Given the description of an element on the screen output the (x, y) to click on. 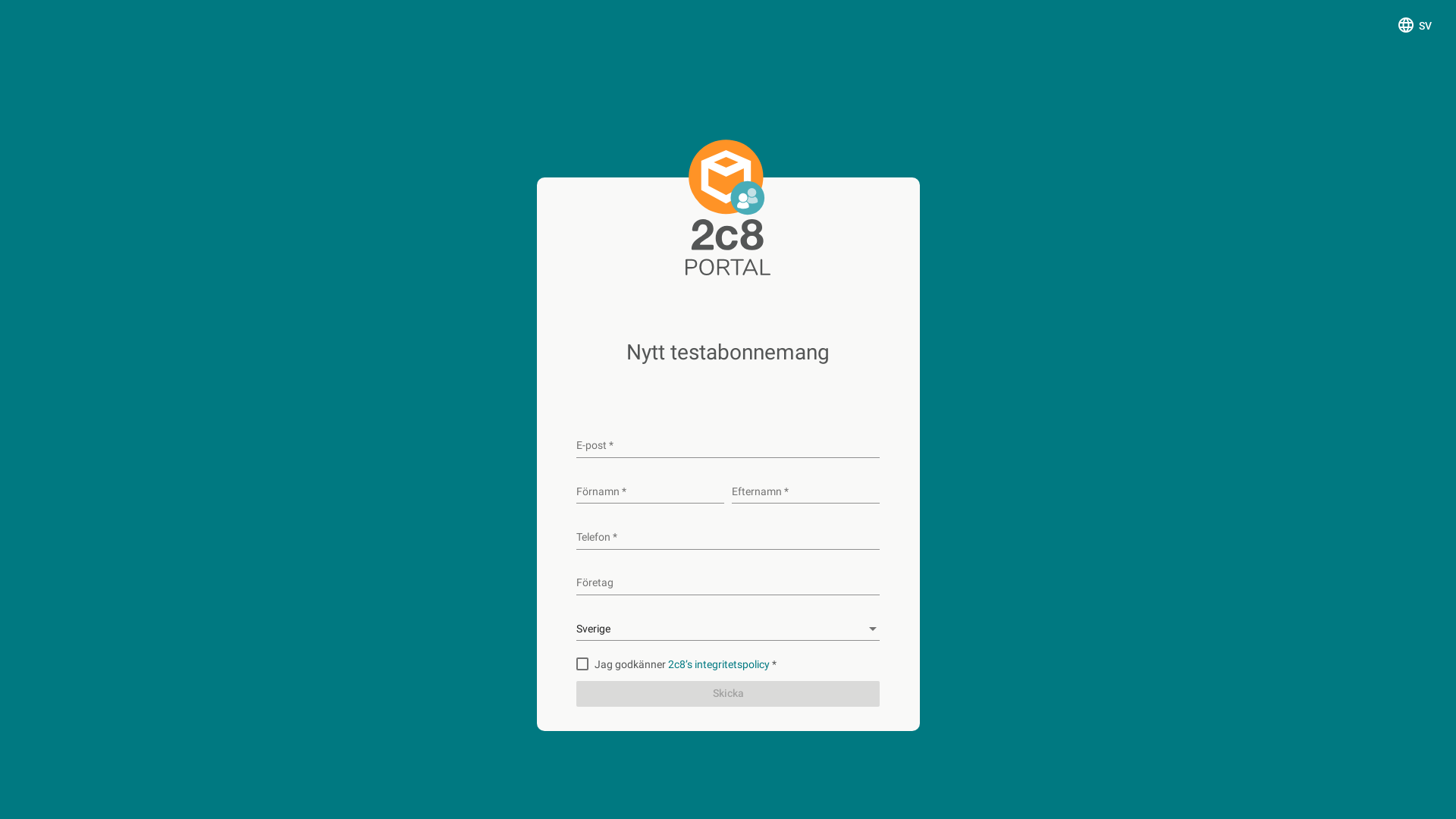
languageSV Element type: text (1413, 24)
Skicka Element type: text (727, 693)
